Given the description of an element on the screen output the (x, y) to click on. 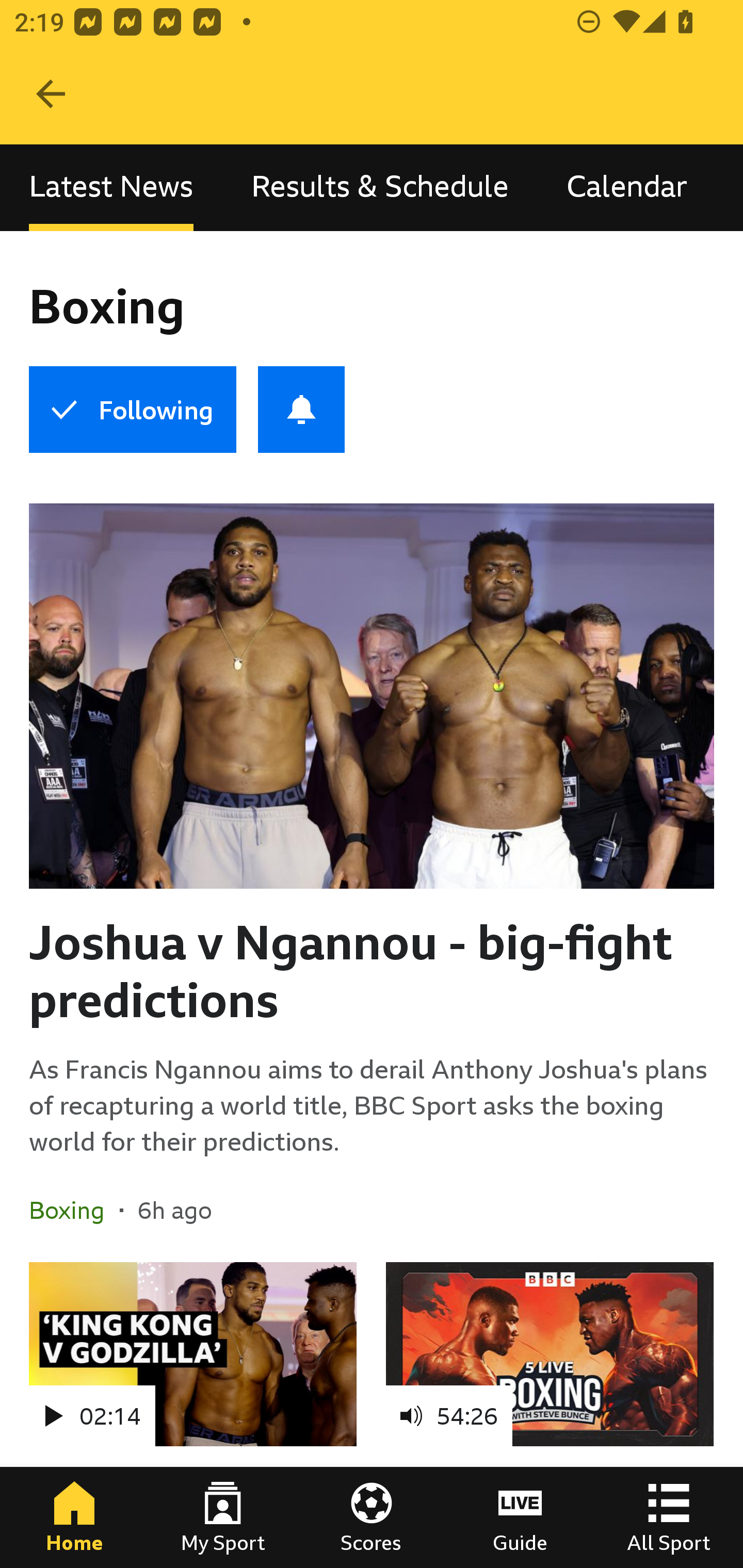
Navigate up (50, 93)
Latest News, selected Latest News (111, 187)
Results & Schedule (379, 187)
Calendar (626, 187)
Following Boxing Following (132, 409)
Push notifications for Boxing (300, 409)
My Sport (222, 1517)
Scores (371, 1517)
Guide (519, 1517)
All Sport (668, 1517)
